Given the description of an element on the screen output the (x, y) to click on. 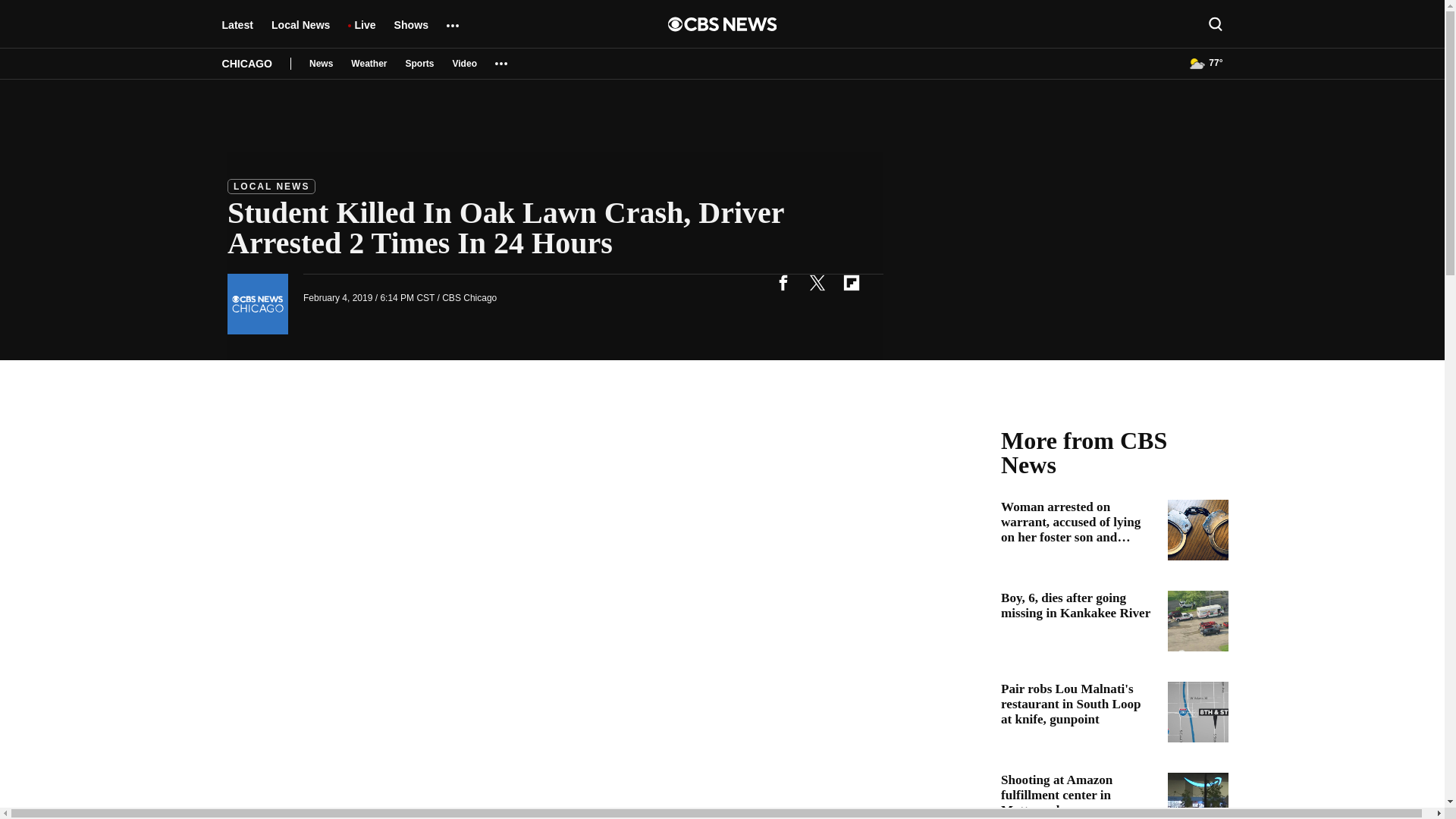
twitter (816, 282)
facebook (782, 282)
flipboard (850, 282)
Local News (300, 31)
Latest (236, 31)
Live (364, 31)
